Given the description of an element on the screen output the (x, y) to click on. 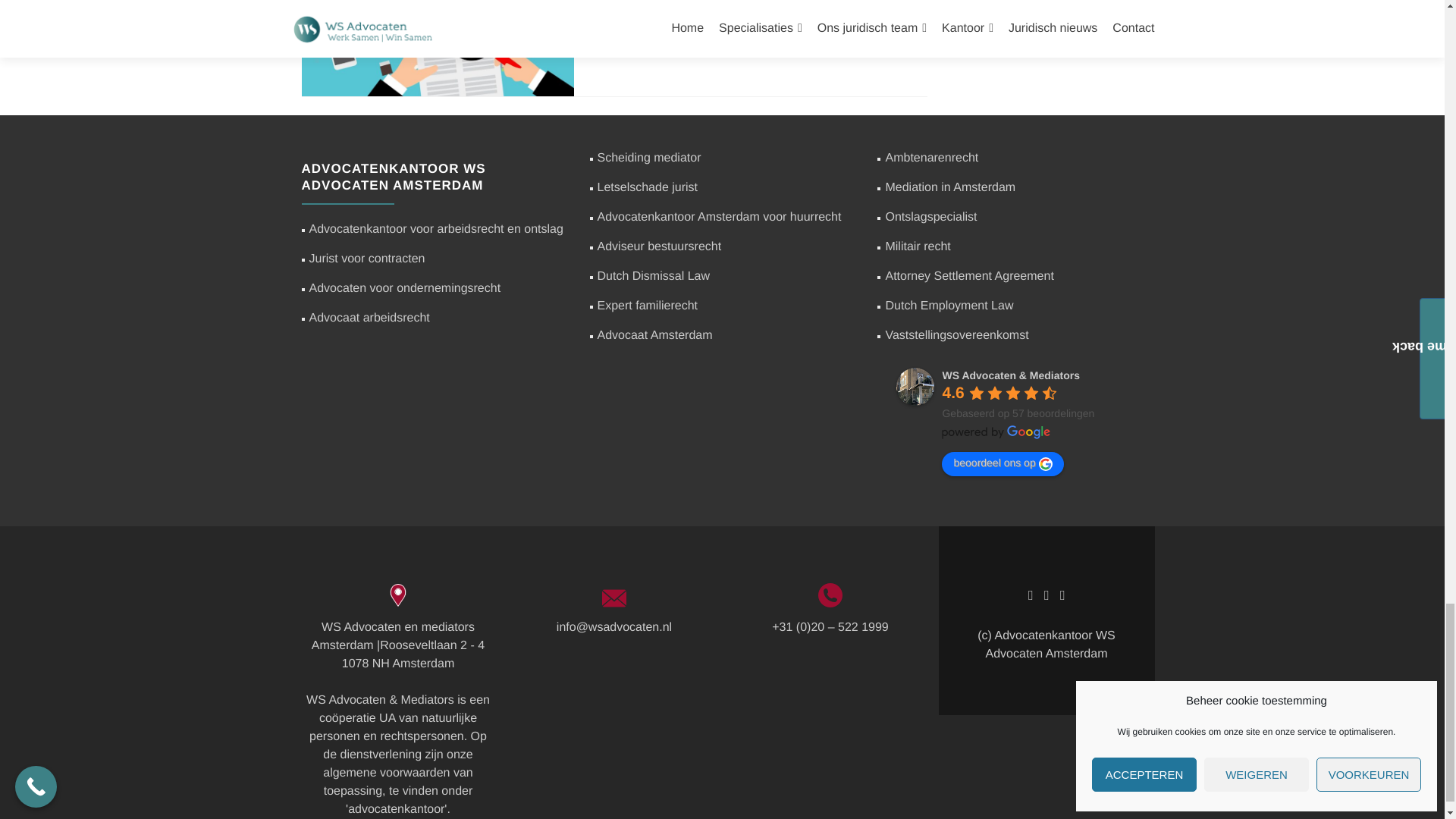
powered by Google (996, 431)
